Given the description of an element on the screen output the (x, y) to click on. 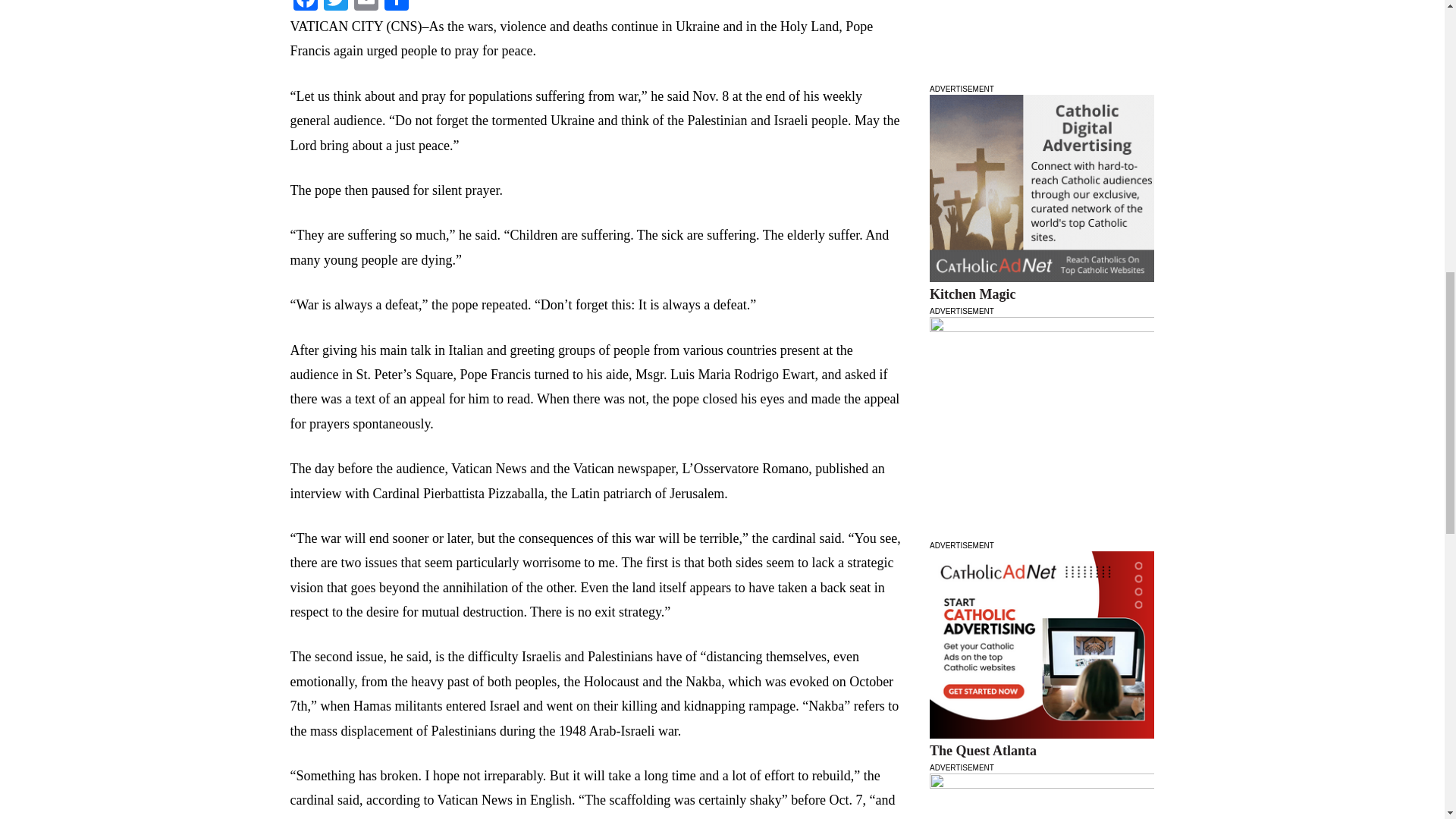
Twitter (335, 7)
Facebook (304, 7)
Email (365, 7)
